Given the description of an element on the screen output the (x, y) to click on. 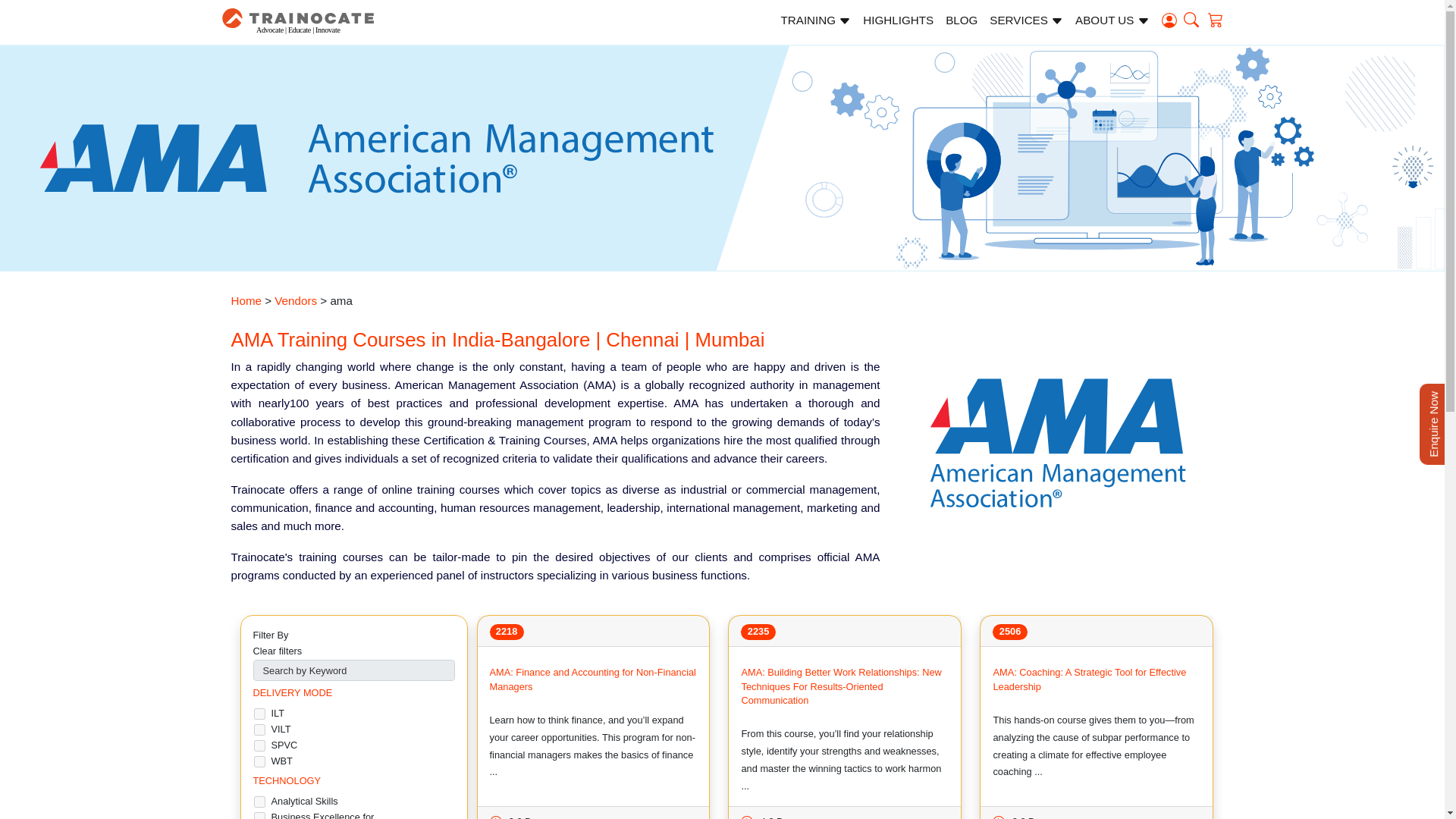
TRAINING (815, 20)
HIGHLIGHTS (898, 20)
71 (258, 815)
SPVC (258, 745)
Home (246, 300)
logo (296, 20)
64 (258, 801)
WBT (258, 761)
SERVICES (1026, 20)
BLOG (961, 20)
Vendors (296, 300)
Search by course code or name (353, 670)
